Given the description of an element on the screen output the (x, y) to click on. 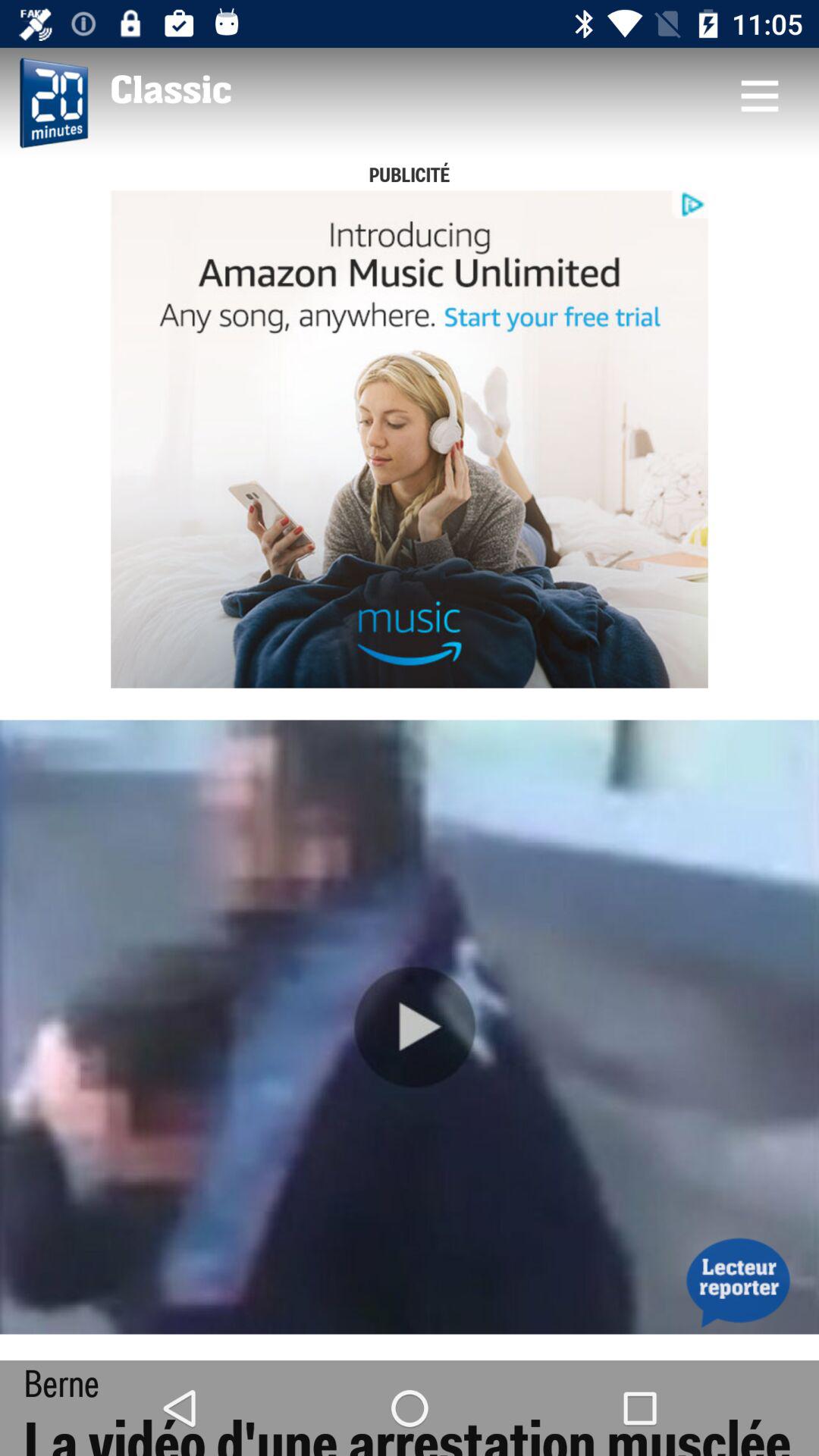
music unlimited banner (409, 439)
